Given the description of an element on the screen output the (x, y) to click on. 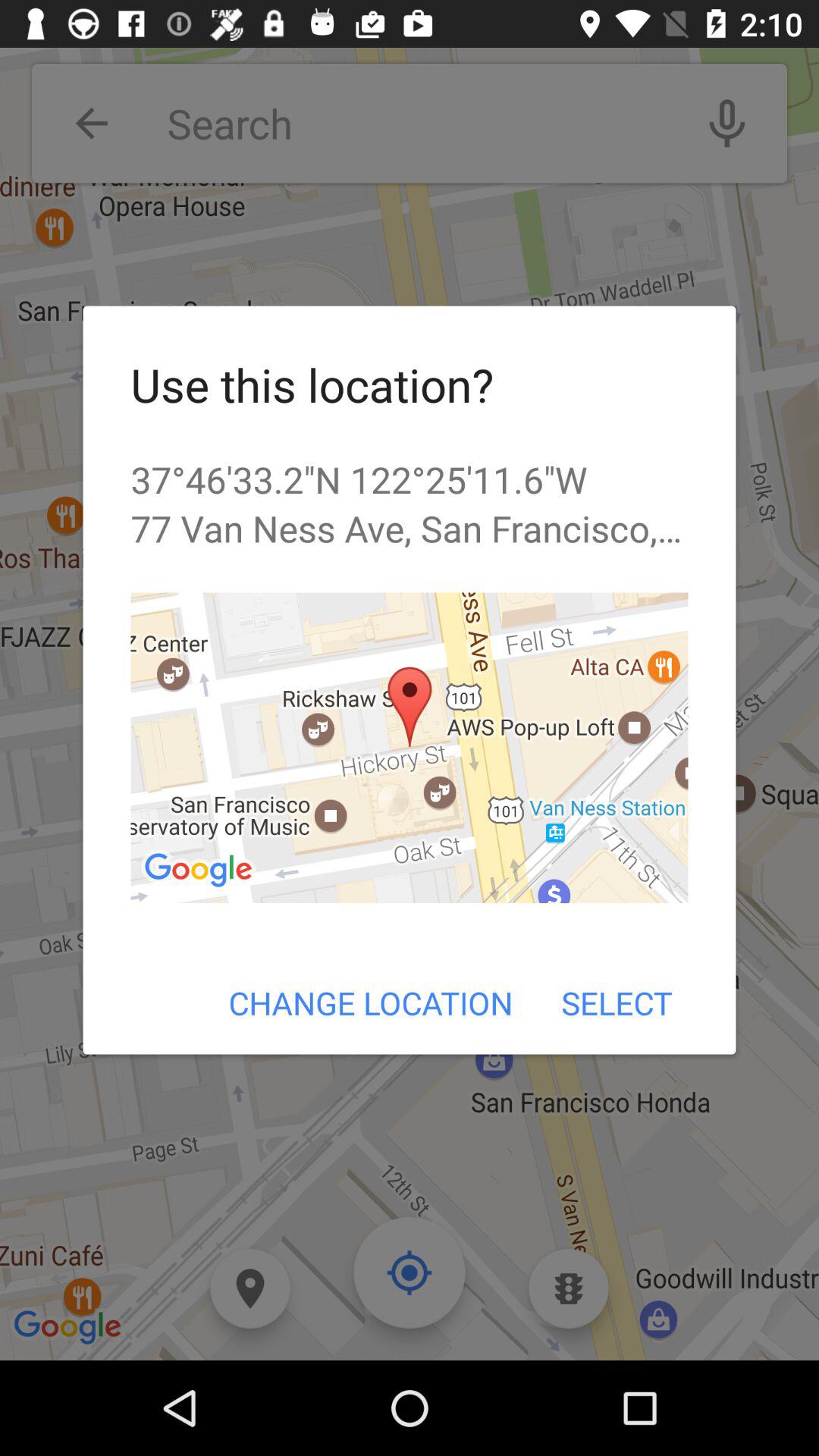
choose the change location (370, 1002)
